Given the description of an element on the screen output the (x, y) to click on. 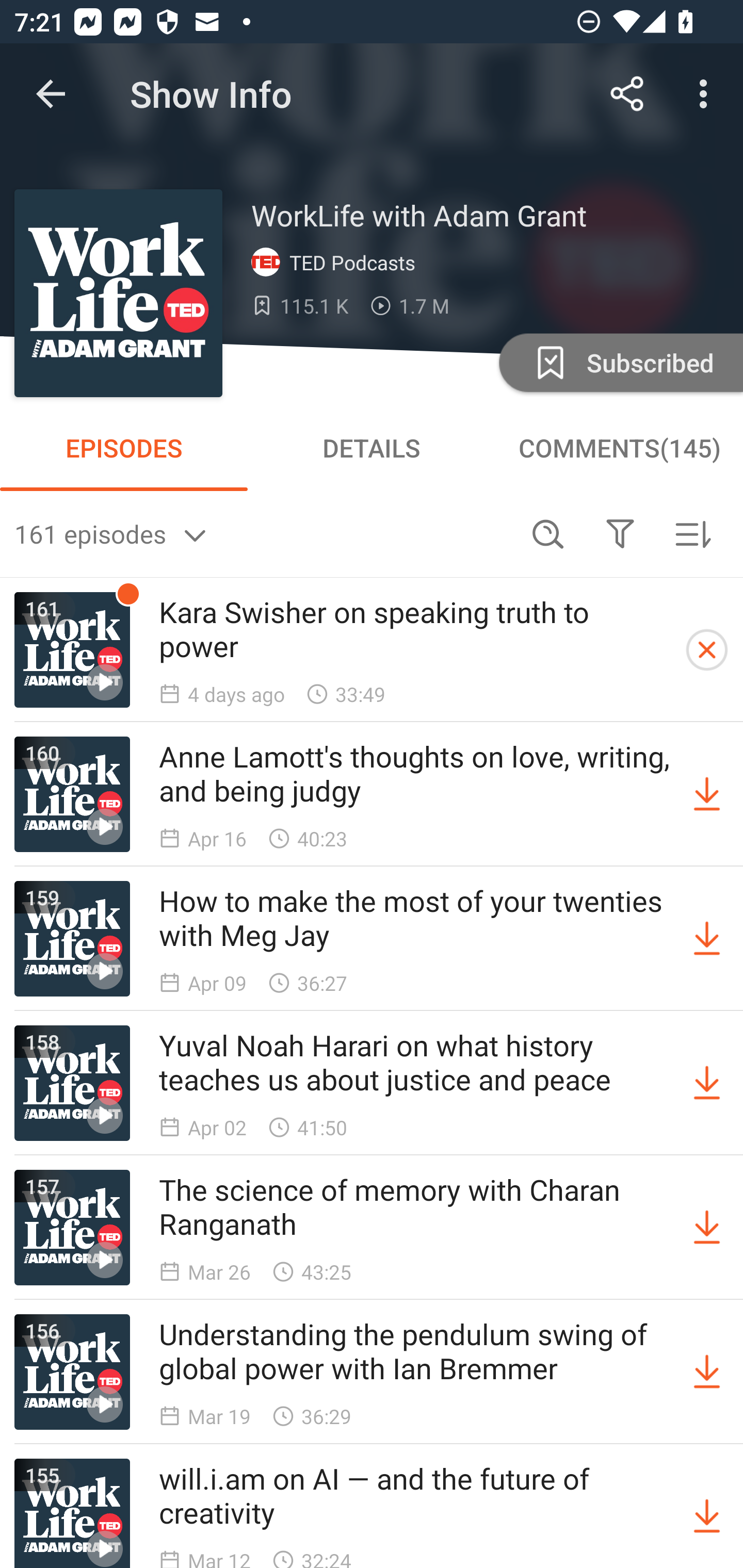
Navigate up (50, 93)
Share (626, 93)
More options (706, 93)
TED Podcasts (337, 262)
Unsubscribe Subscribed (619, 361)
EPISODES (123, 447)
DETAILS (371, 447)
COMMENTS(145) (619, 447)
161 episodes  (262, 533)
 Search (547, 533)
 (619, 533)
 Sorted by newest first (692, 533)
Cancel Downloading (706, 649)
Download (706, 793)
Download (706, 939)
Download (706, 1083)
Download (706, 1227)
Download (706, 1371)
Download (706, 1513)
